Given the description of an element on the screen output the (x, y) to click on. 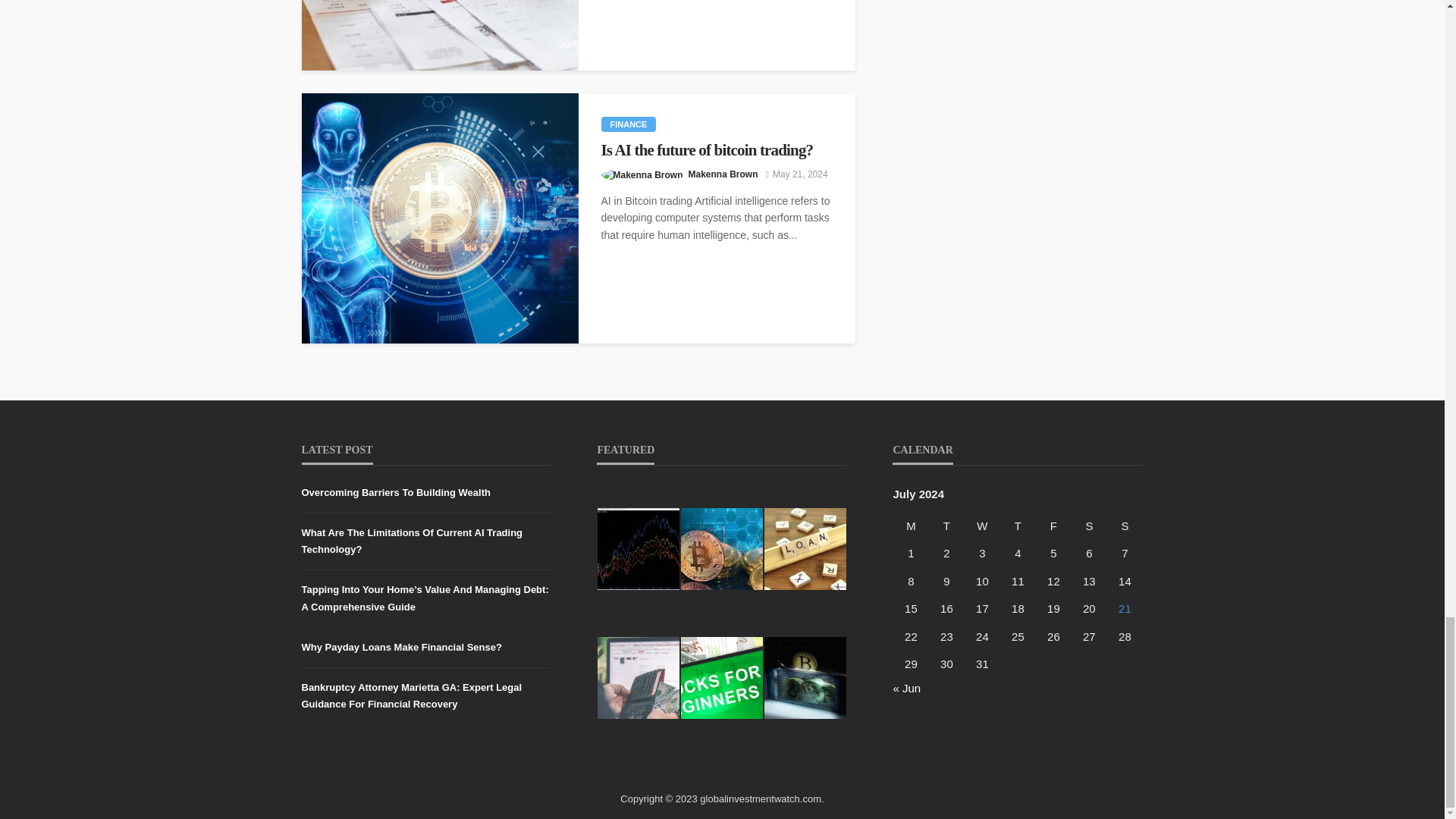
Is AI the future of bitcoin trading? (439, 218)
Finance (627, 124)
How to Use Life Insurance as a Financial Planning Tool? (439, 35)
